Given the description of an element on the screen output the (x, y) to click on. 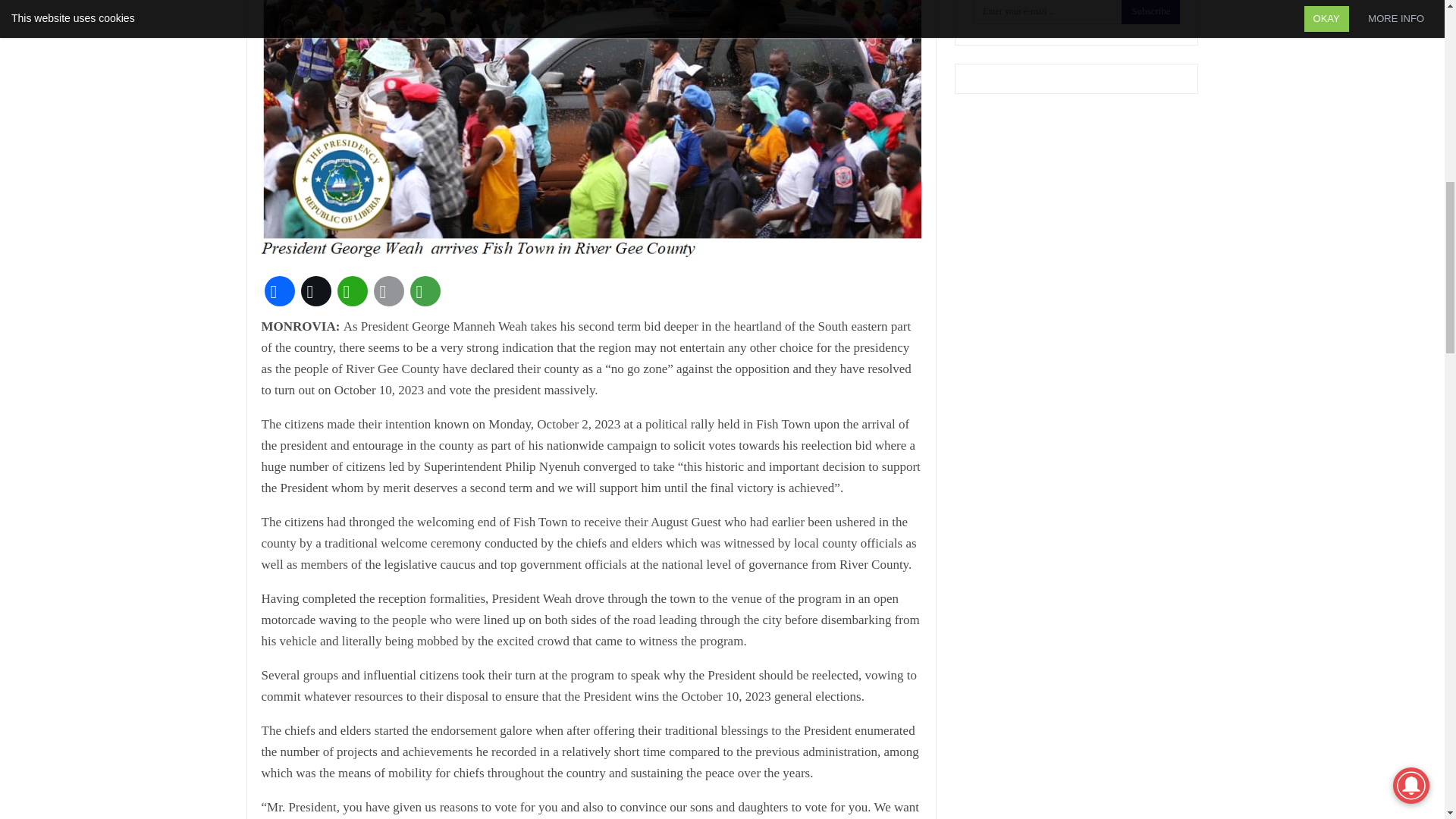
More Options (424, 290)
Email This (387, 290)
WhatsApp (351, 290)
Facebook (278, 290)
